Given the description of an element on the screen output the (x, y) to click on. 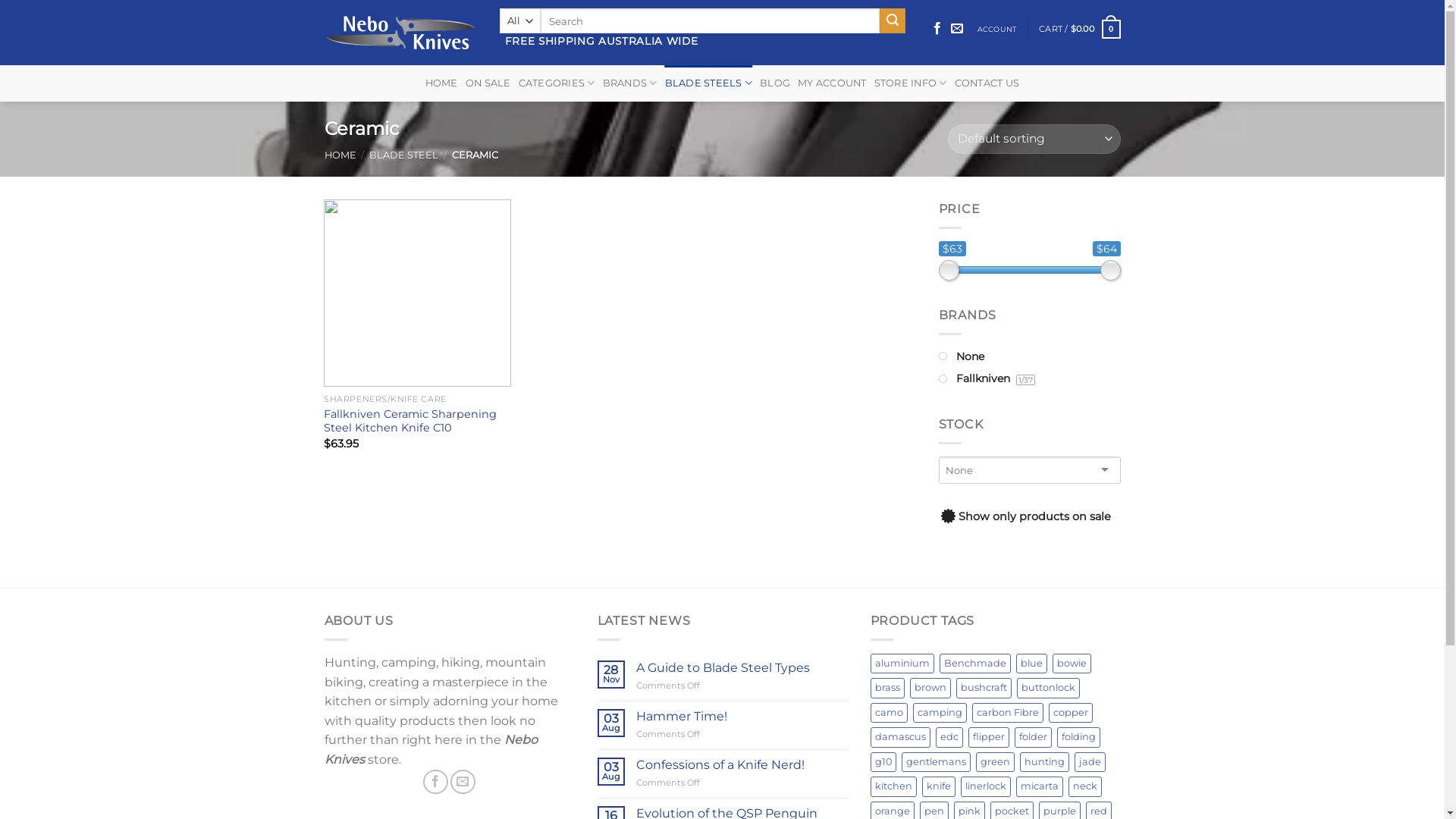
Follow on Facebook Element type: hover (435, 780)
Send us an email Element type: hover (462, 780)
HOME Element type: text (441, 83)
edc Element type: text (949, 736)
damascus Element type: text (900, 736)
CONTACT US Element type: text (986, 83)
micarta Element type: text (1039, 786)
gentlemans Element type: text (934, 761)
buttonlock Element type: text (1047, 687)
A Guide to Blade Steel Types Element type: text (741, 667)
BLOG Element type: text (774, 83)
brass Element type: text (887, 687)
green Element type: text (994, 761)
CART / $0.00
0 Element type: text (1079, 28)
knife Element type: text (938, 786)
Nebo Knives - Hunting, camping, hiking, kitchen Element type: hover (400, 32)
Search Element type: text (892, 21)
Hammer Time! Element type: text (741, 716)
Fallkniven Ceramic Sharpening Steel Kitchen Knife C10 Element type: text (417, 421)
BLADE STEEL Element type: text (403, 154)
BLADE STEELS Element type: text (709, 83)
brown Element type: text (930, 687)
BRANDS Element type: text (629, 83)
jade Element type: text (1088, 761)
HOME Element type: text (340, 154)
MY ACCOUNT Element type: text (831, 83)
folding Element type: text (1078, 736)
ON SALE Element type: text (488, 83)
Confessions of a Knife Nerd! Element type: text (741, 764)
Send us an email Element type: hover (956, 28)
bushcraft Element type: text (982, 687)
neck Element type: text (1084, 786)
g10 Element type: text (883, 761)
carbon Fibre Element type: text (1007, 712)
CATEGORIES Element type: text (556, 83)
bowie Element type: text (1071, 663)
folder Element type: text (1032, 736)
camping Element type: text (939, 712)
copper Element type: text (1070, 712)
STORE INFO Element type: text (910, 83)
flipper Element type: text (987, 736)
aluminium Element type: text (902, 663)
hunting Element type: text (1043, 761)
camo Element type: text (888, 712)
Benchmade Element type: text (974, 663)
ACCOUNT Element type: text (996, 28)
linerlock Element type: text (985, 786)
blue Element type: text (1031, 663)
kitchen Element type: text (893, 786)
Follow on Facebook Element type: hover (937, 28)
